Given the description of an element on the screen output the (x, y) to click on. 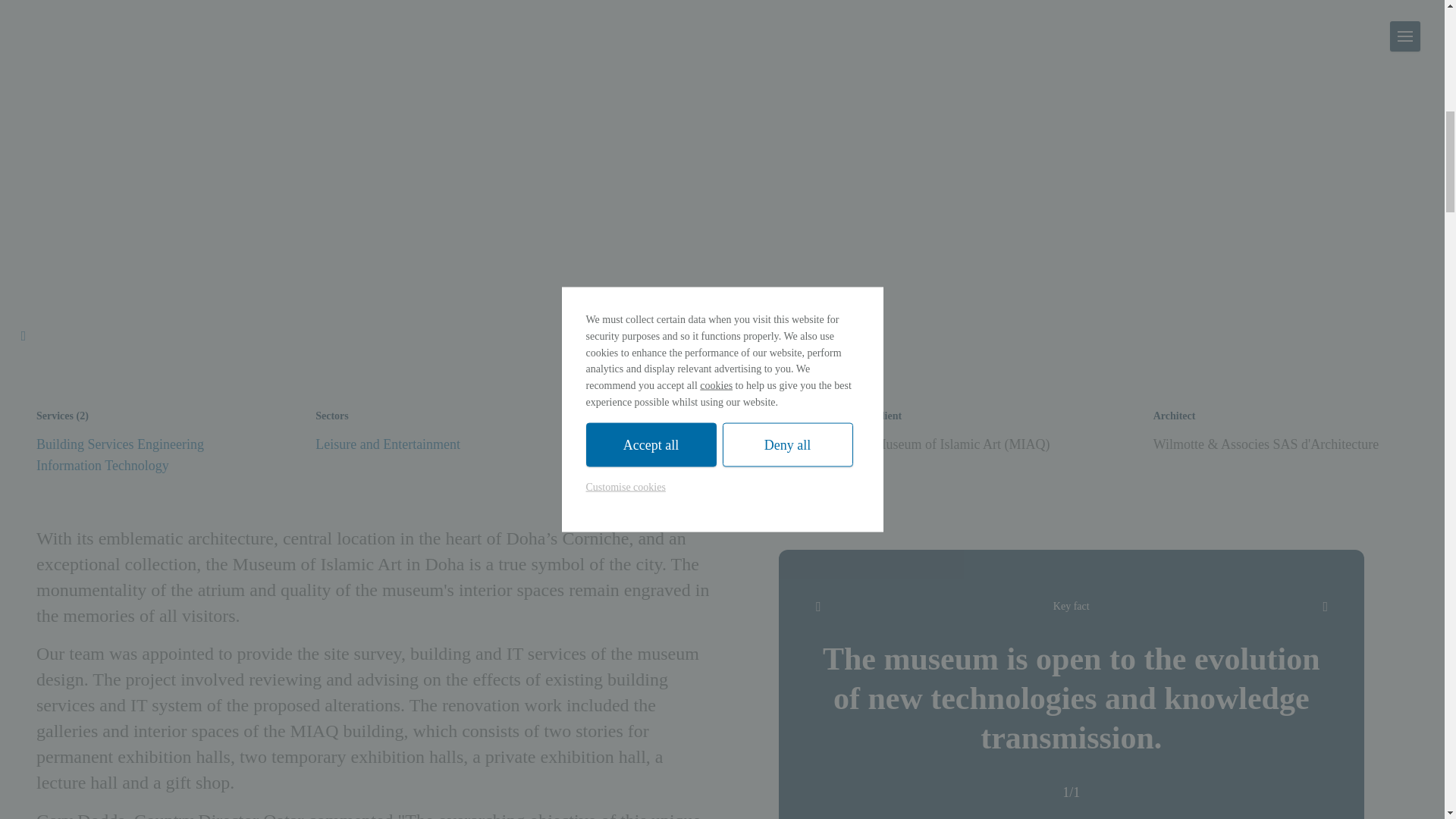
Building Services Engineering (119, 444)
Information Technology (102, 465)
Leisure and Entertainment (387, 444)
